Given the description of an element on the screen output the (x, y) to click on. 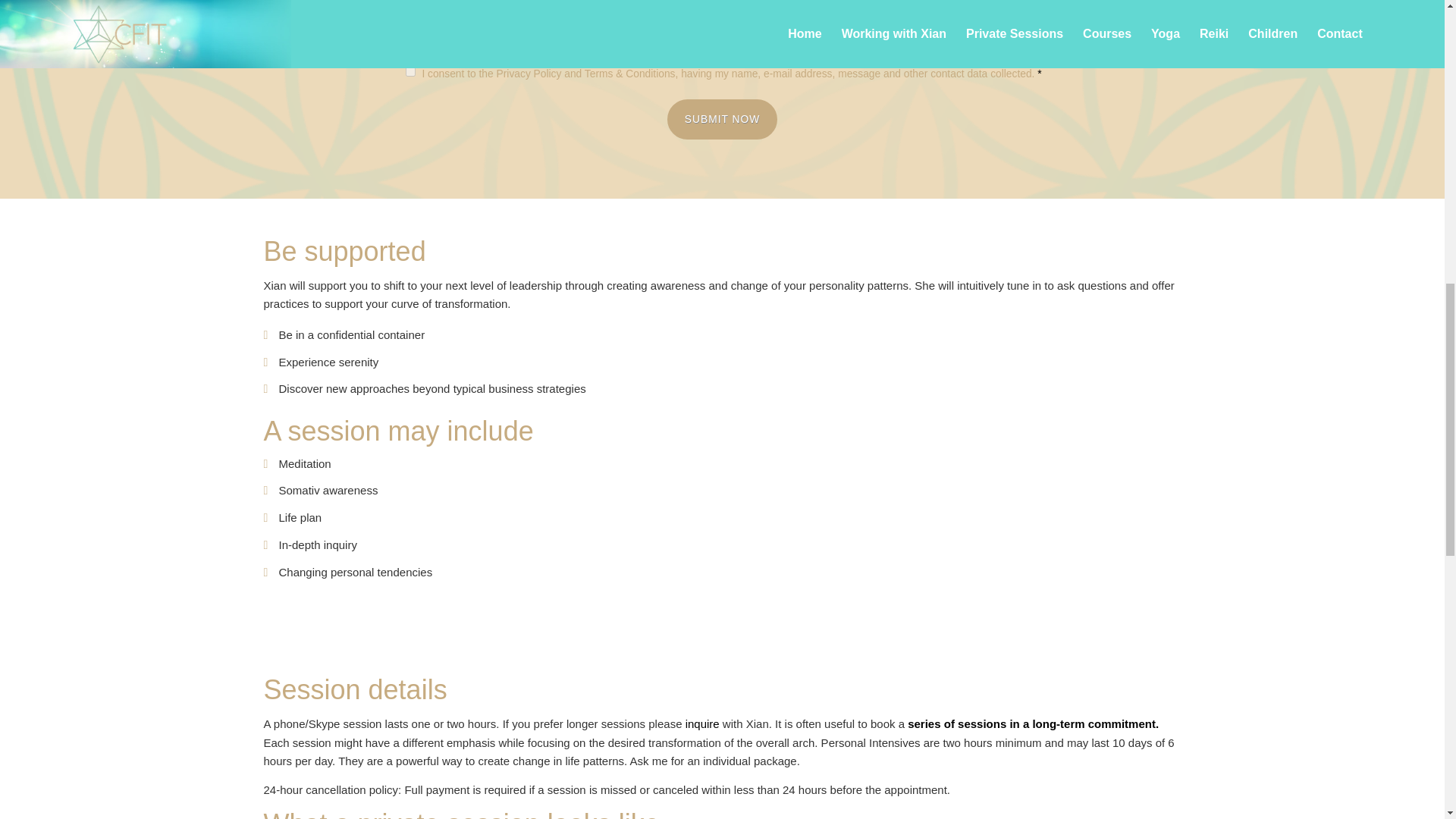
Submit now (721, 119)
true (410, 71)
Submit now (721, 119)
inquire (702, 723)
